Given the description of an element on the screen output the (x, y) to click on. 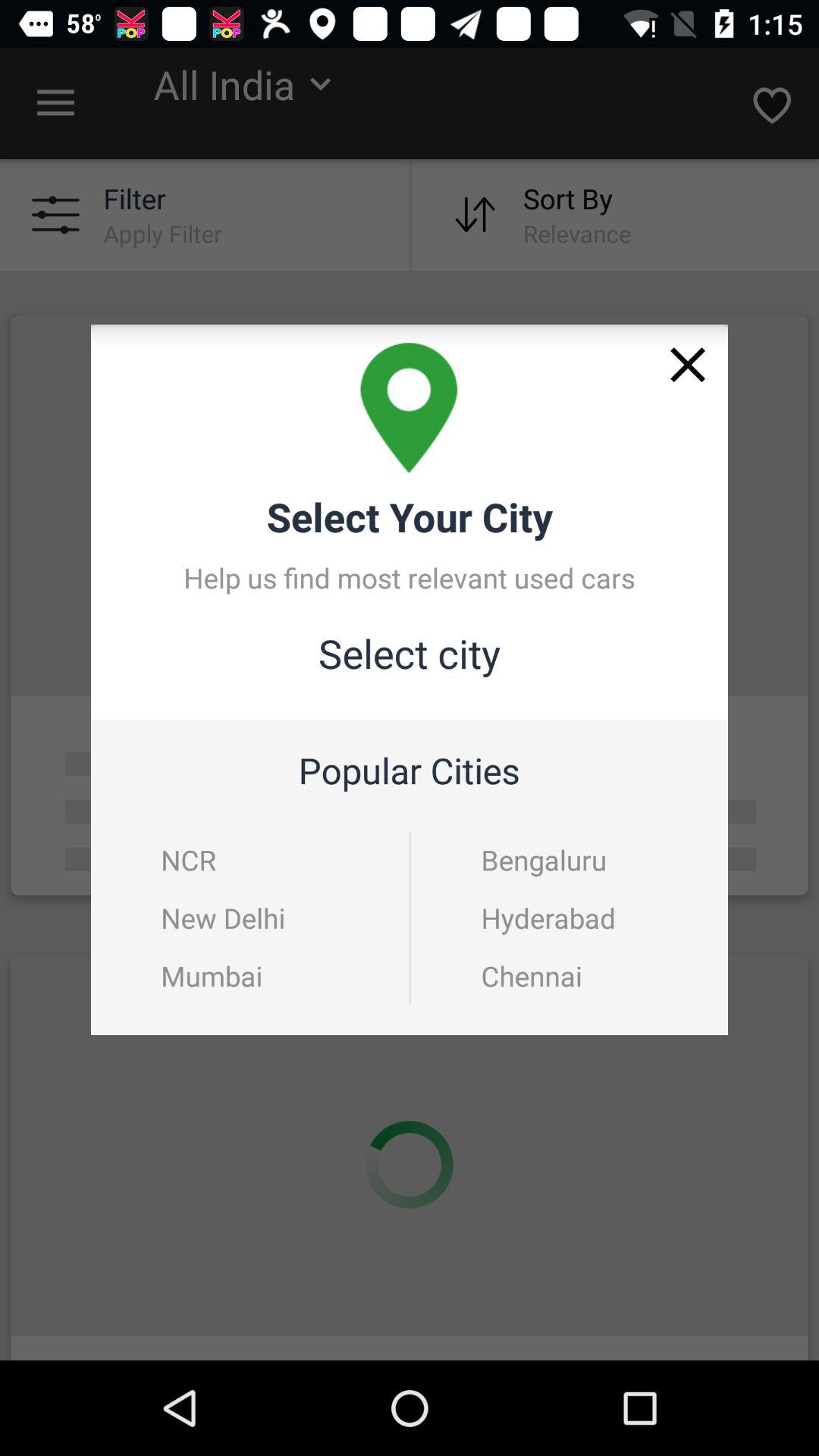
tap the chennai icon (569, 975)
